Given the description of an element on the screen output the (x, y) to click on. 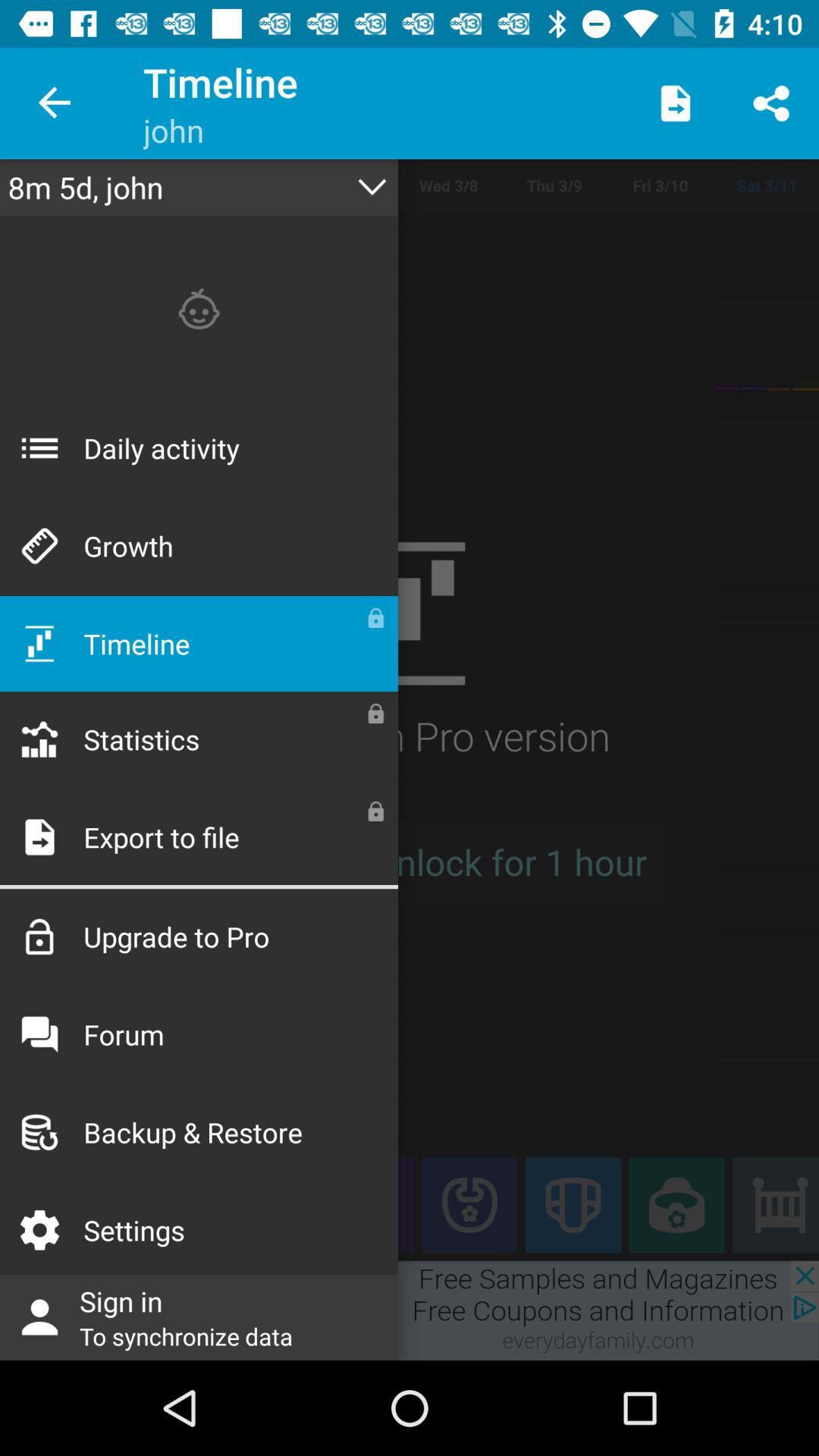
click on the second lock icon (376, 713)
